Given the description of an element on the screen output the (x, y) to click on. 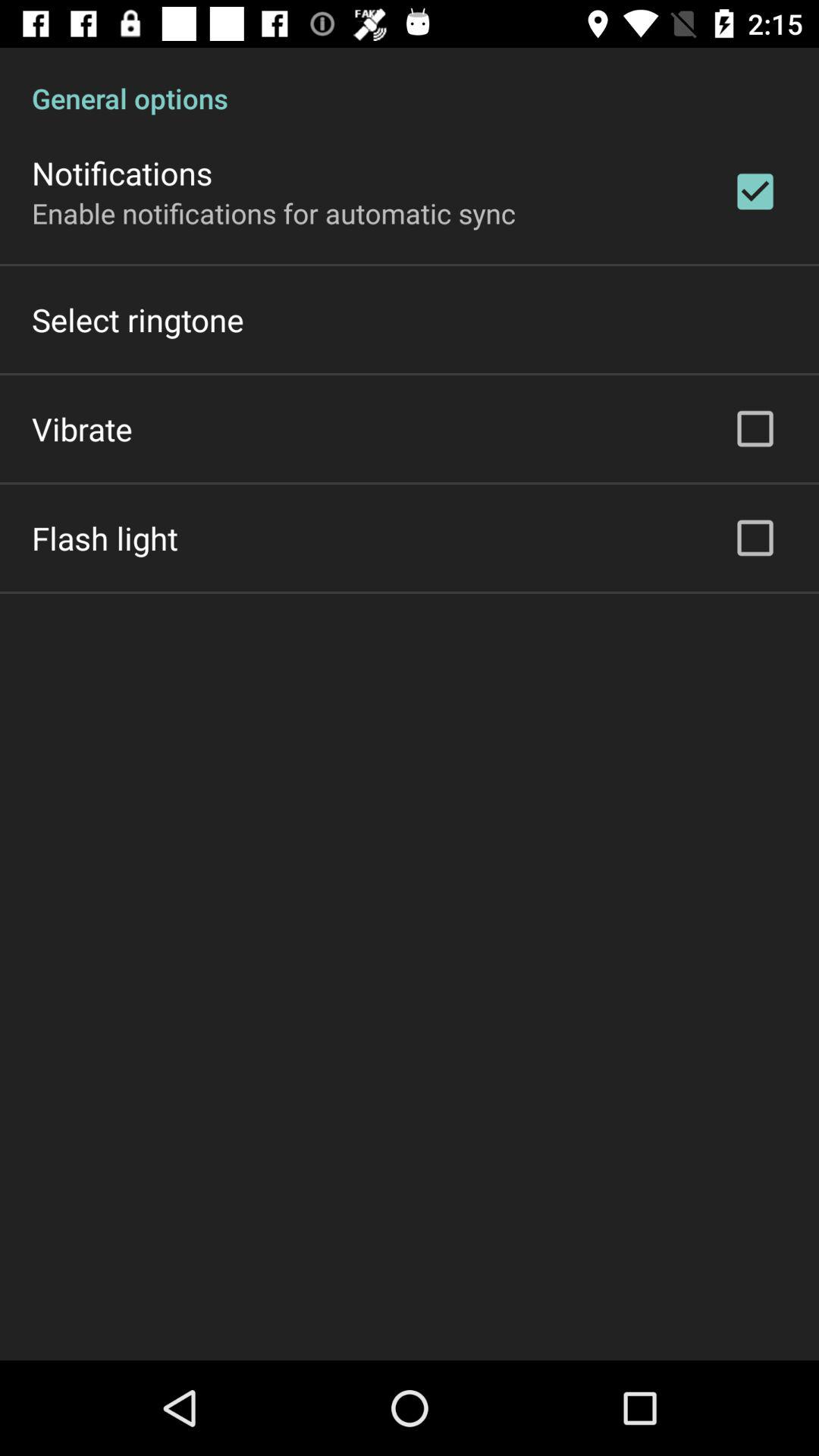
jump to the vibrate item (81, 428)
